Given the description of an element on the screen output the (x, y) to click on. 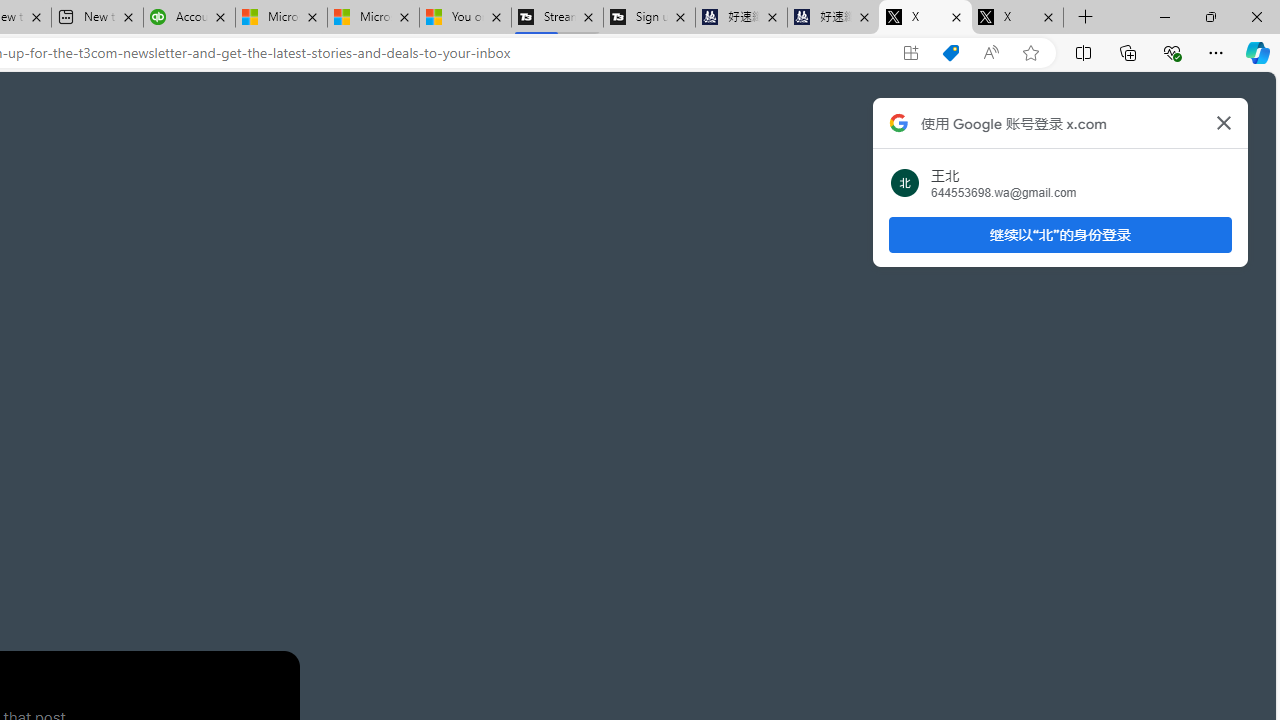
Shopping in Microsoft Edge (950, 53)
Accounting Software for Accountants, CPAs and Bookkeepers (189, 17)
